Given the description of an element on the screen output the (x, y) to click on. 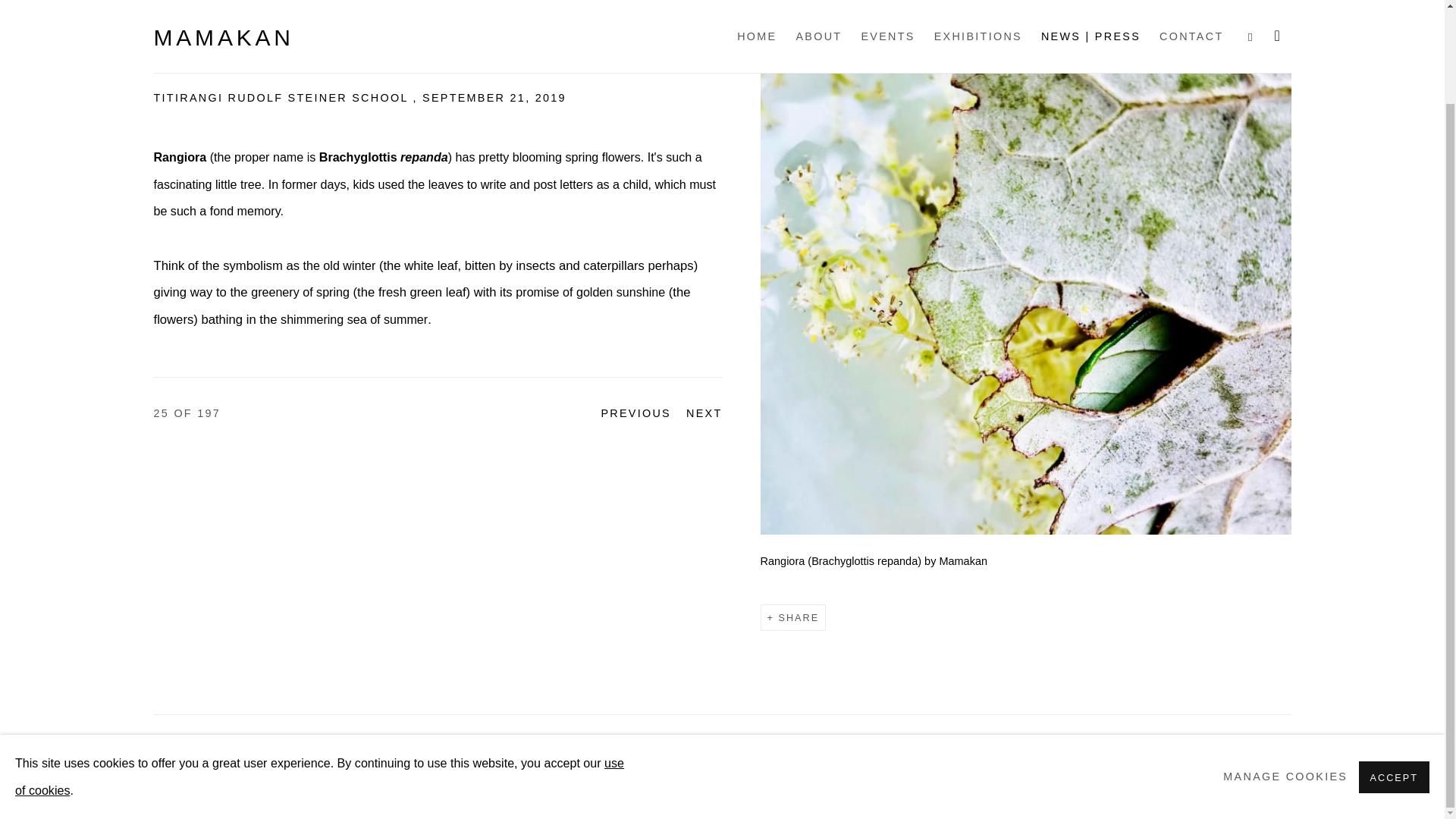
use of cookies (319, 668)
MANAGE COOKIES (1278, 749)
ACCEPT (327, 750)
SITE BY ARTLOGIC (1393, 668)
NEXT (384, 777)
CONTACT (703, 413)
Cookie Policy (592, 750)
PREVIOUS (319, 668)
